Given the description of an element on the screen output the (x, y) to click on. 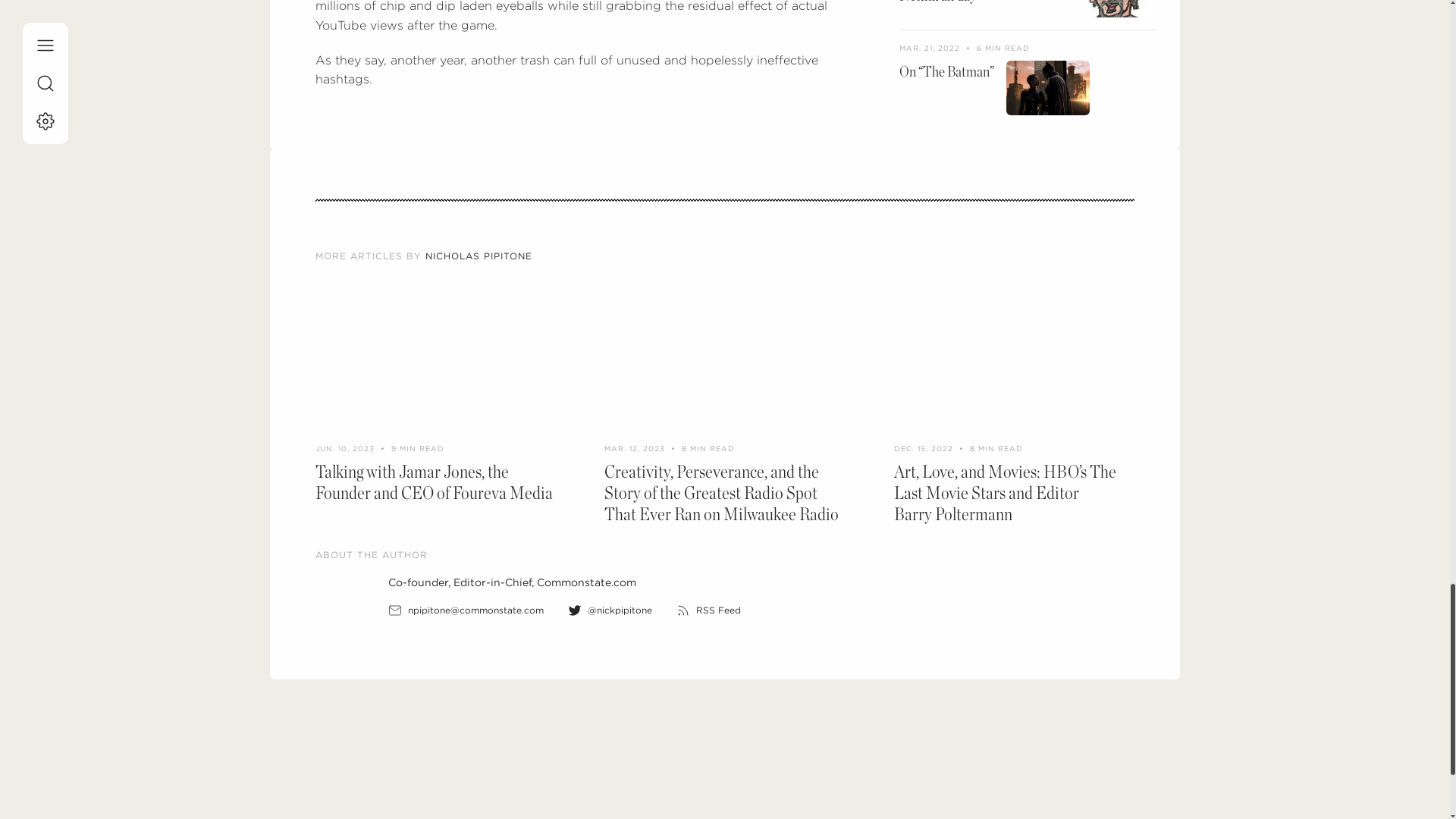
NICHOLAS PIPITONE (478, 255)
RSS Feed (718, 610)
